Given the description of an element on the screen output the (x, y) to click on. 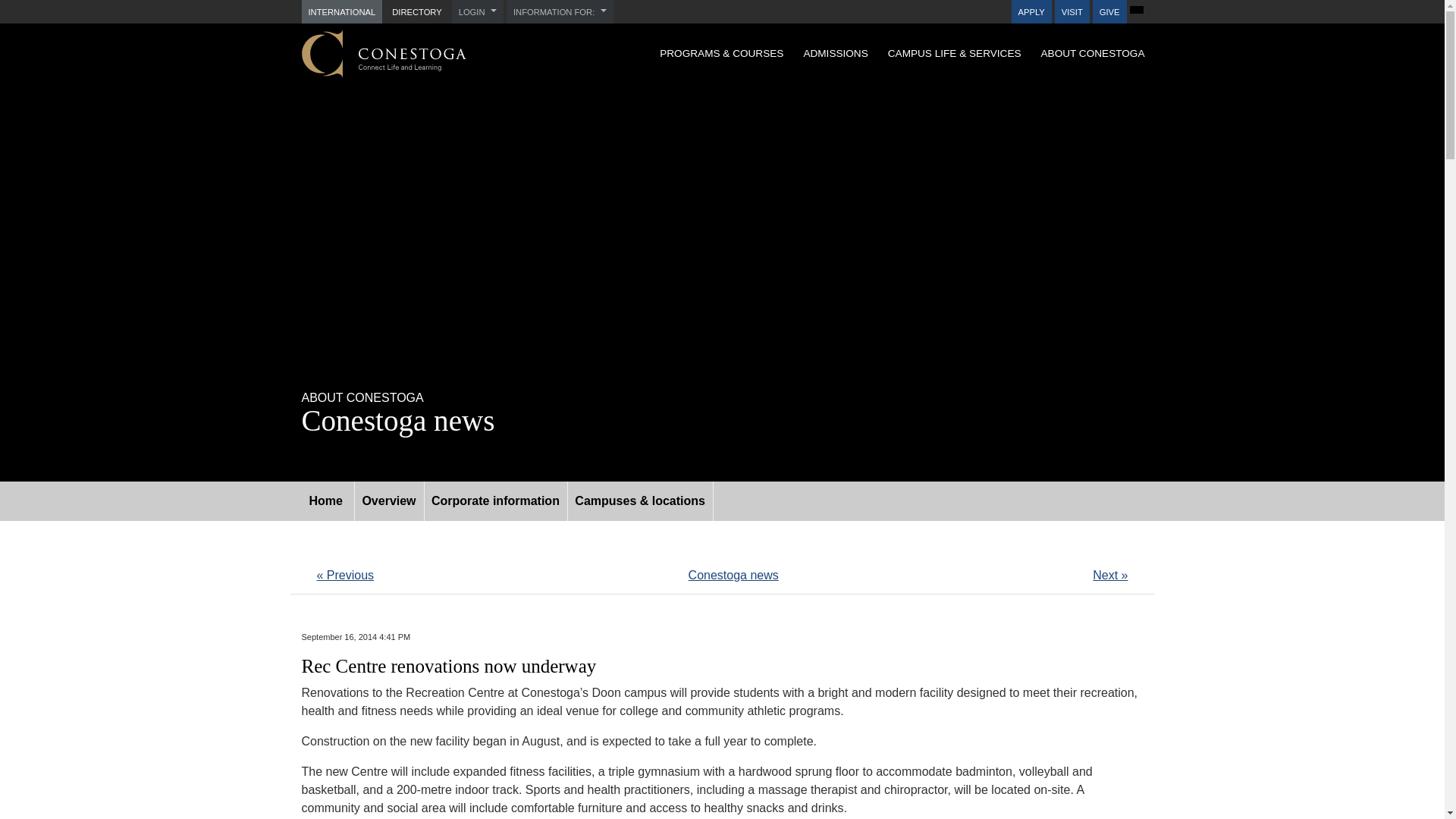
GIVE (1109, 11)
LOGIN (477, 11)
VISIT (1071, 11)
APPLY (1031, 11)
DIRECTORY (416, 11)
INTERNATIONAL (341, 11)
ADMISSIONS (835, 52)
ABOUT CONESTOGA (1092, 52)
INFORMATION FOR: (559, 11)
